Given the description of an element on the screen output the (x, y) to click on. 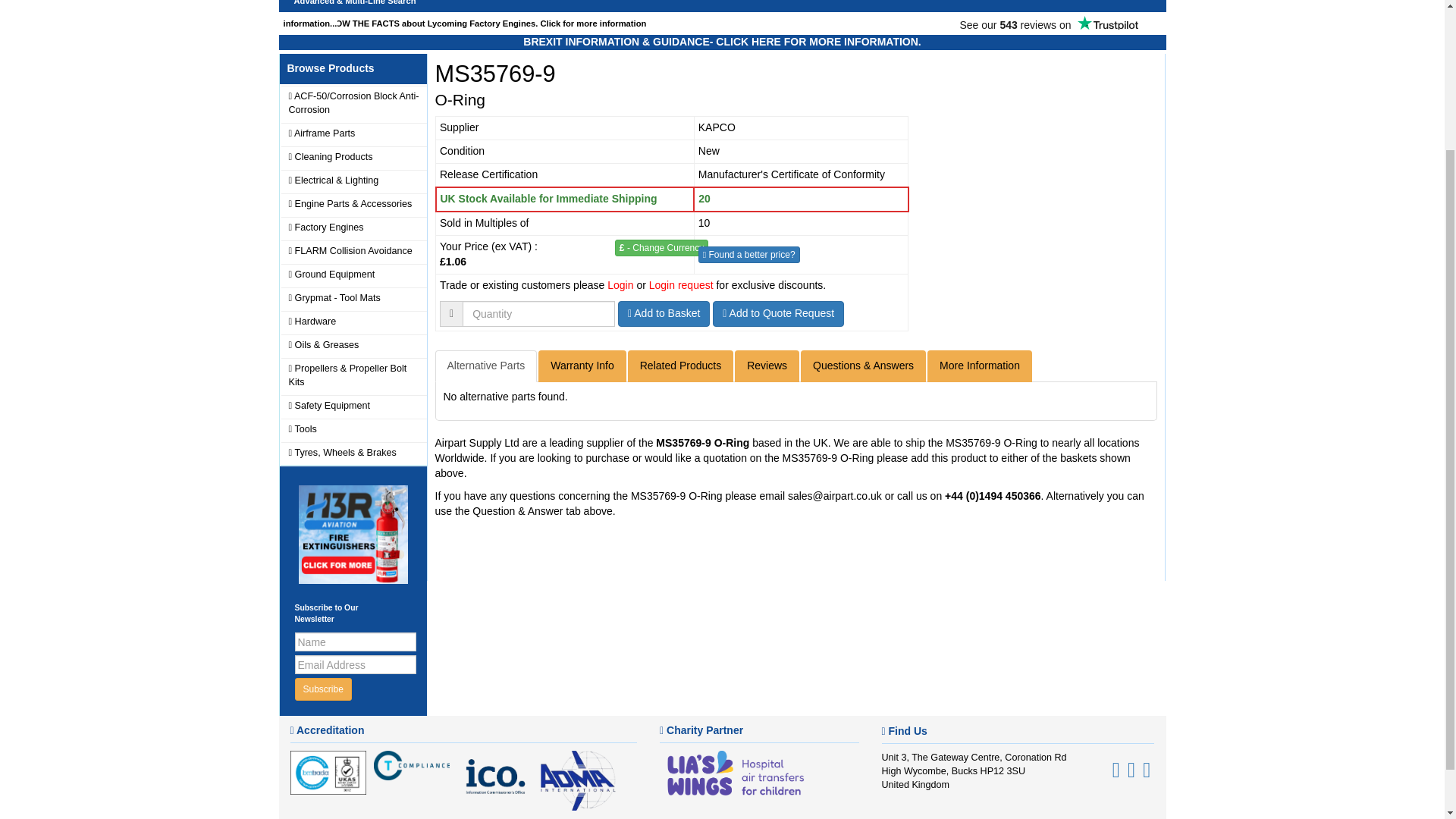
 Ground Equipment (353, 274)
 Grypmat - Tool Mats (353, 298)
 Airframe Parts (353, 133)
Customer reviews powered by Trustpilot (1047, 22)
 Cleaning Products (353, 157)
Change Currency (660, 247)
 Factory Engines (353, 228)
 FLARM Collision Avoidance (353, 251)
